Given the description of an element on the screen output the (x, y) to click on. 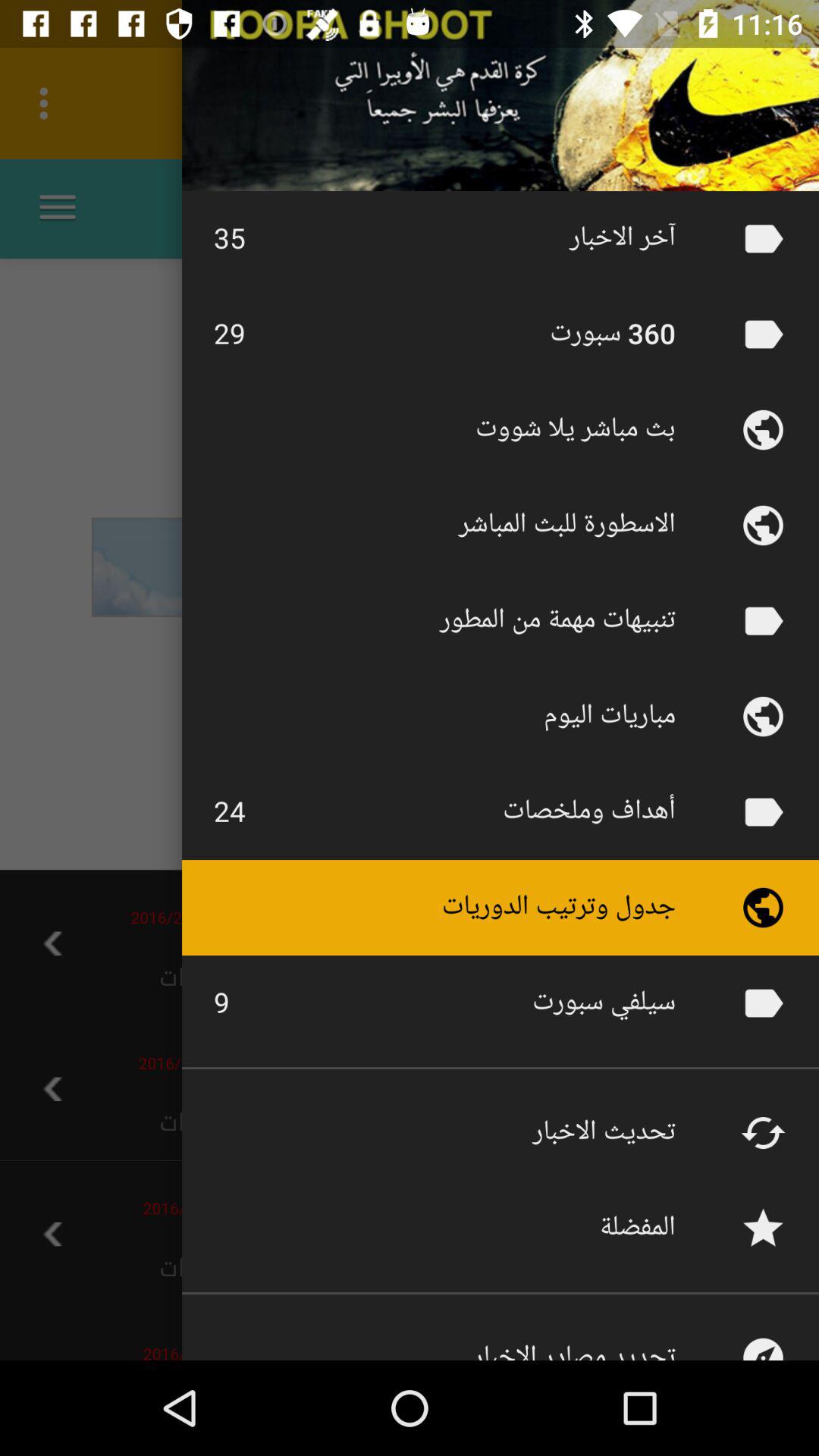
click on the last image (763, 1334)
click on fourth icon from the top (763, 525)
